Given the description of an element on the screen output the (x, y) to click on. 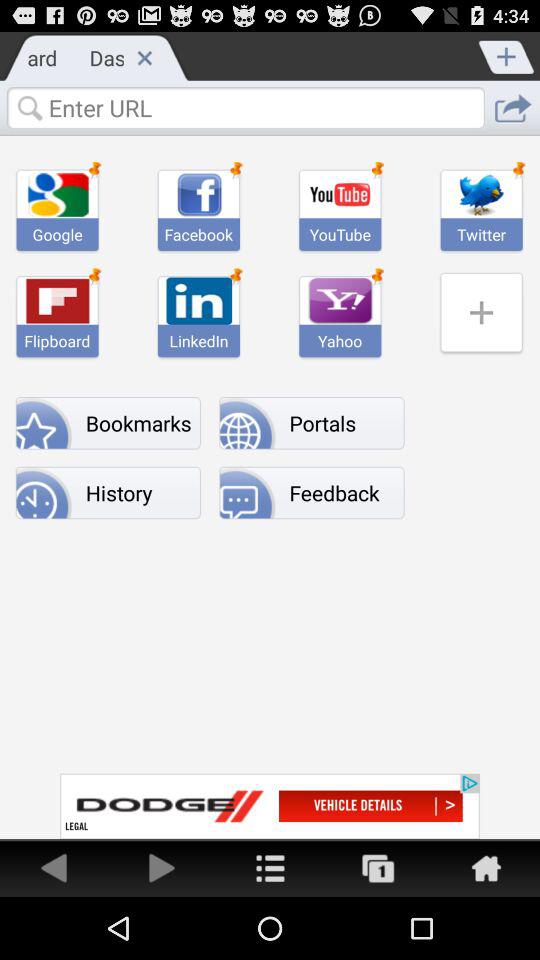
share url (512, 107)
